Given the description of an element on the screen output the (x, y) to click on. 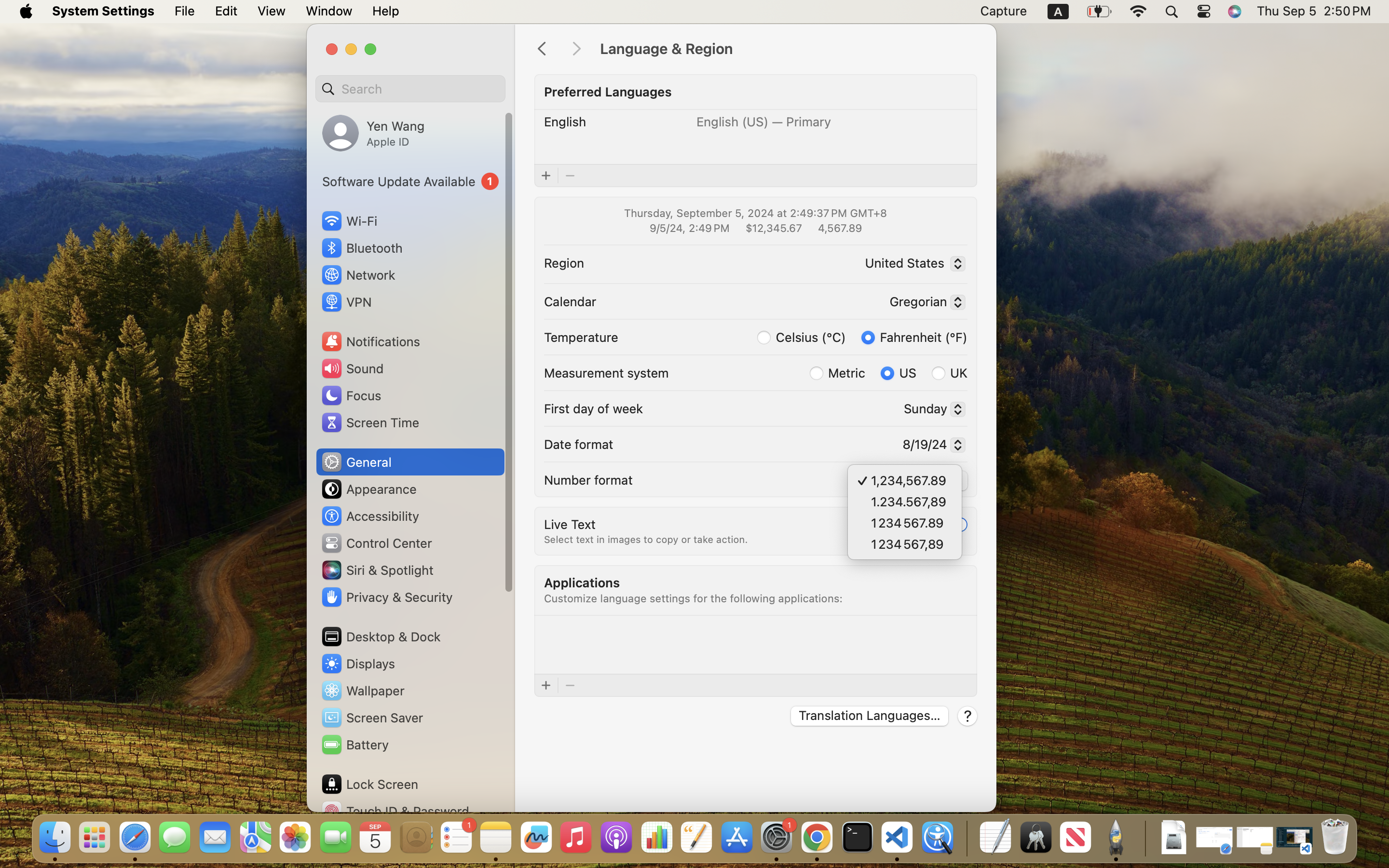
Bluetooth Element type: AXStaticText (361, 247)
Measurement system Element type: AXStaticText (606, 371)
Lock Screen Element type: AXStaticText (369, 783)
Privacy & Security Element type: AXStaticText (386, 596)
Battery Element type: AXStaticText (354, 744)
